Given the description of an element on the screen output the (x, y) to click on. 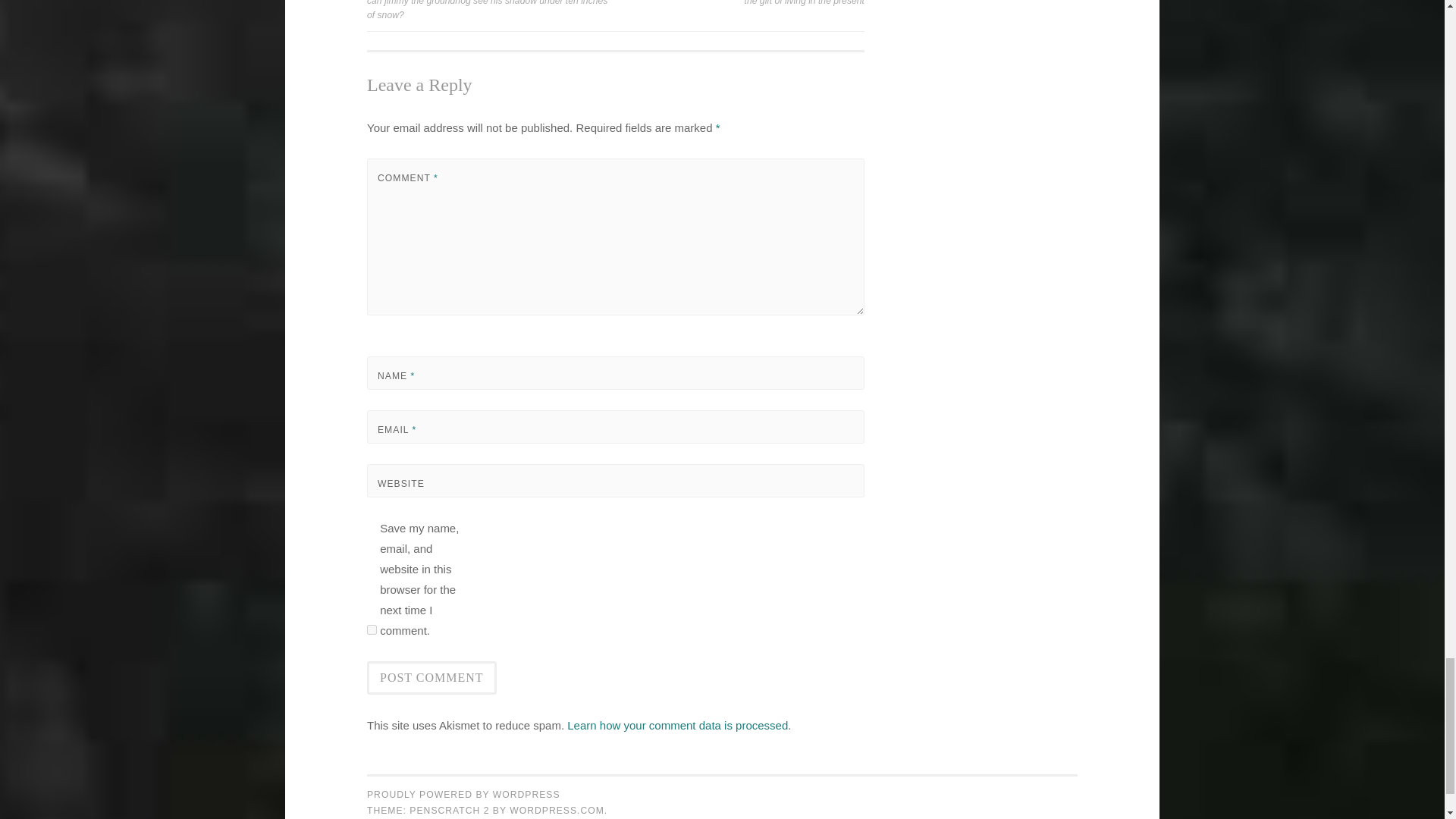
Learn how your comment data is processed (677, 725)
PROUDLY POWERED BY WORDPRESS (463, 794)
WORDPRESS.COM (556, 810)
yes (371, 629)
Post Comment (431, 677)
Post Comment (431, 677)
